Given the description of an element on the screen output the (x, y) to click on. 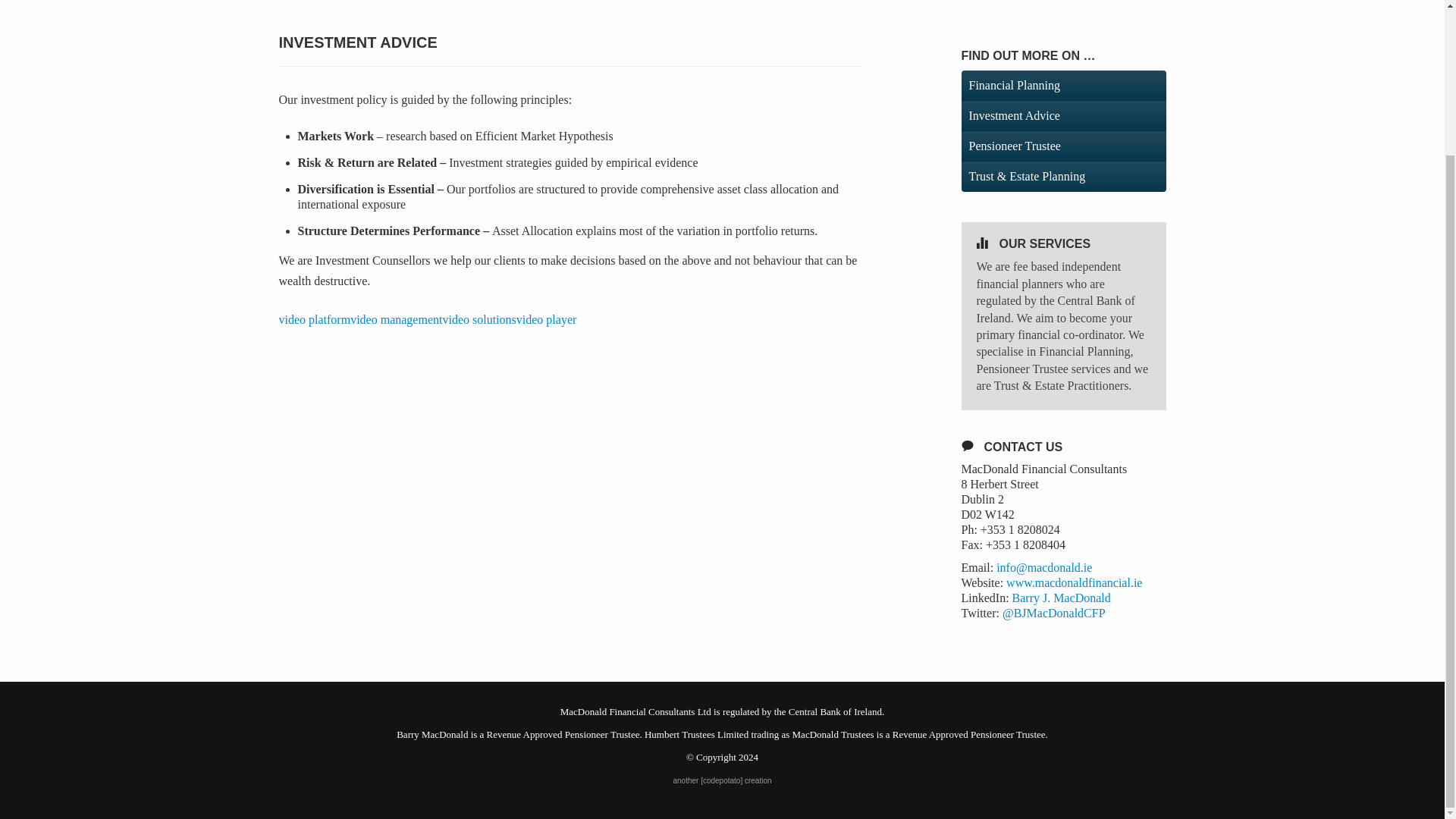
Pensioneer Trustee (1063, 146)
Financial Planning (1063, 85)
video solutions (478, 318)
Investment Advice (1063, 115)
video platform (314, 318)
Barry J. MacDonald (1060, 597)
video management (396, 318)
www.macdonaldfinancial.ie (1073, 582)
video player (546, 318)
